Given the description of an element on the screen output the (x, y) to click on. 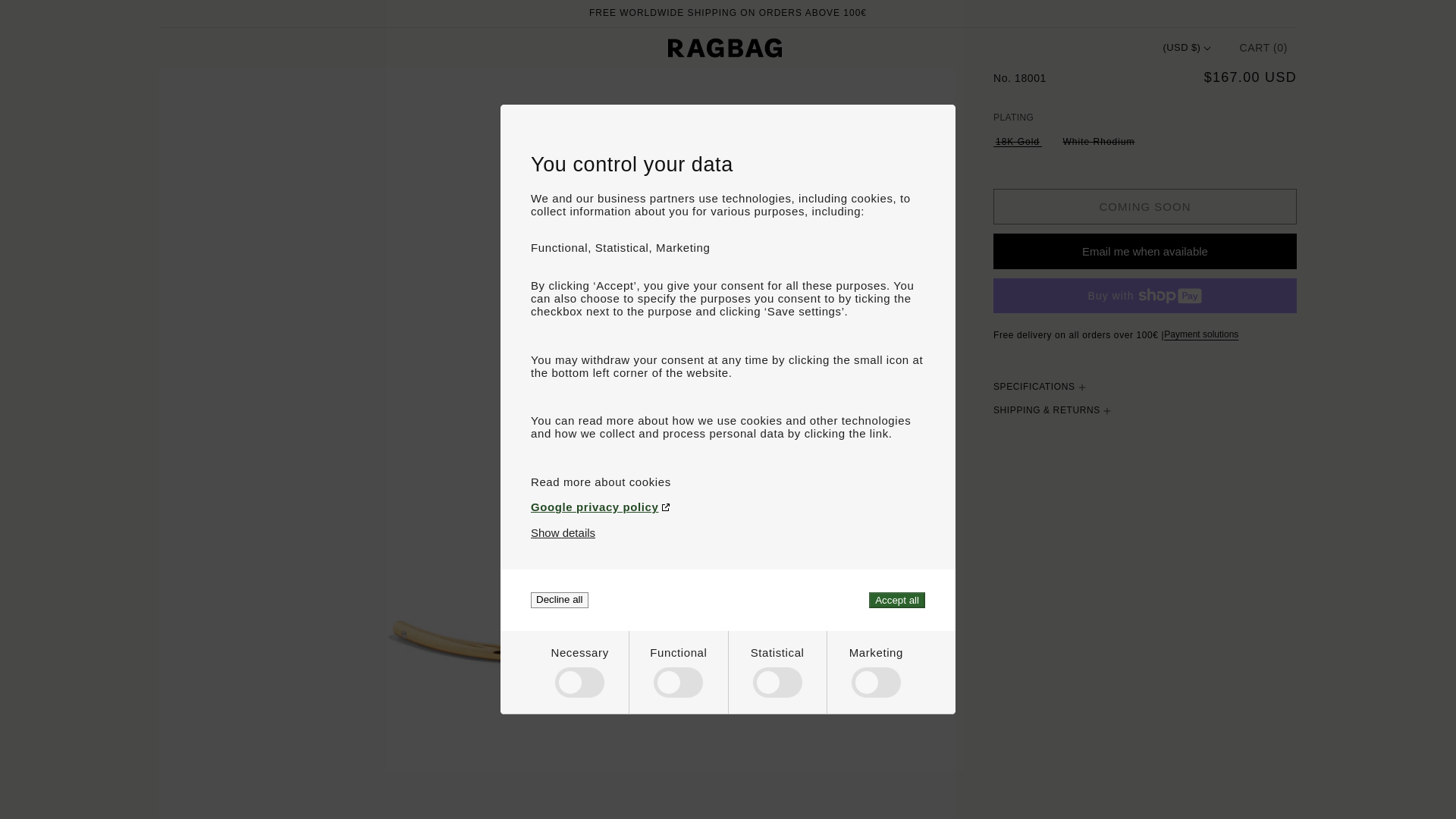
Read more about cookies (727, 481)
Show details (563, 532)
Google privacy policy (727, 506)
